Given the description of an element on the screen output the (x, y) to click on. 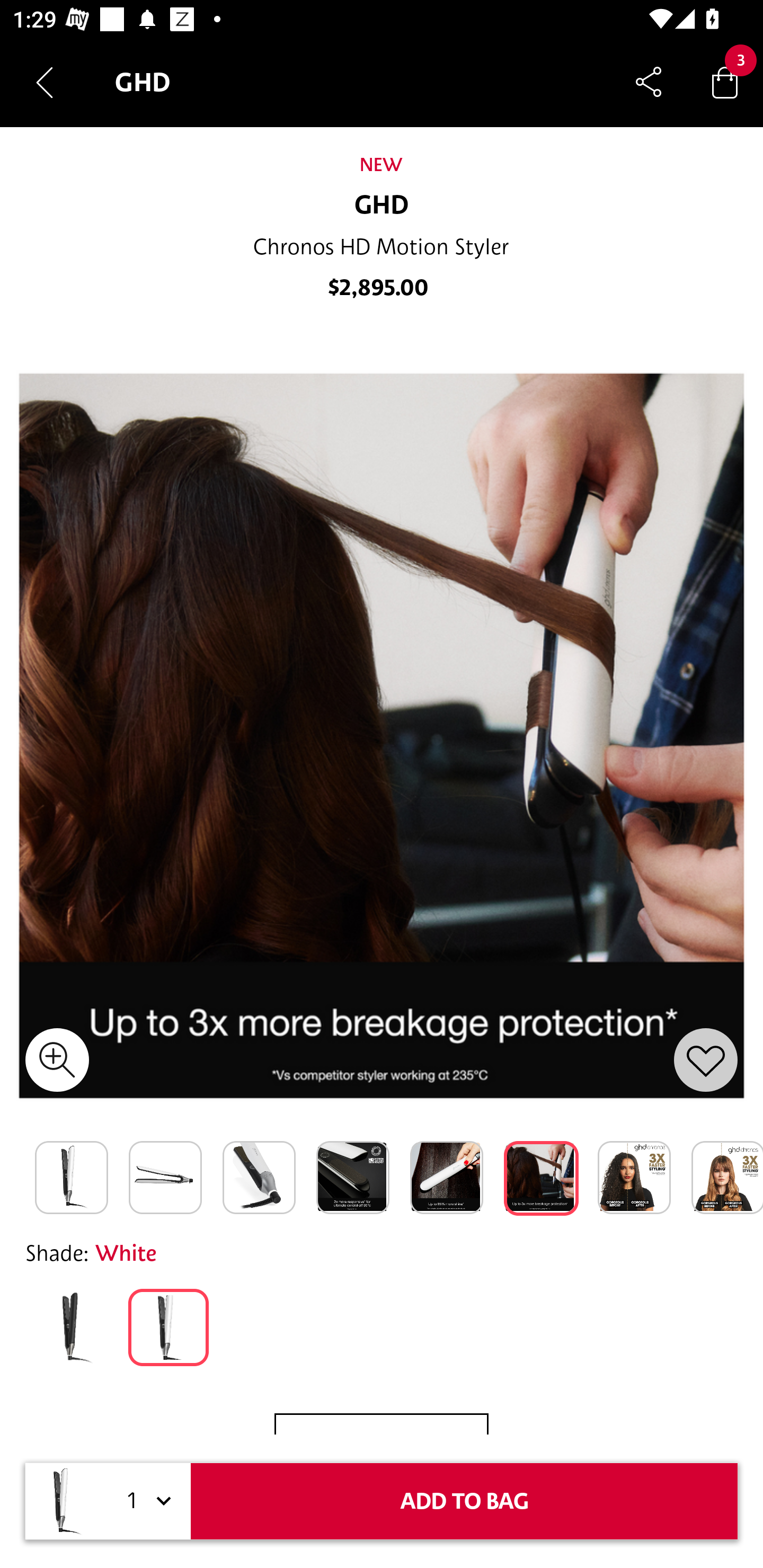
Navigate up (44, 82)
Share (648, 81)
Bag (724, 81)
GHD (381, 205)
1 (145, 1500)
ADD TO BAG (463, 1500)
